Given the description of an element on the screen output the (x, y) to click on. 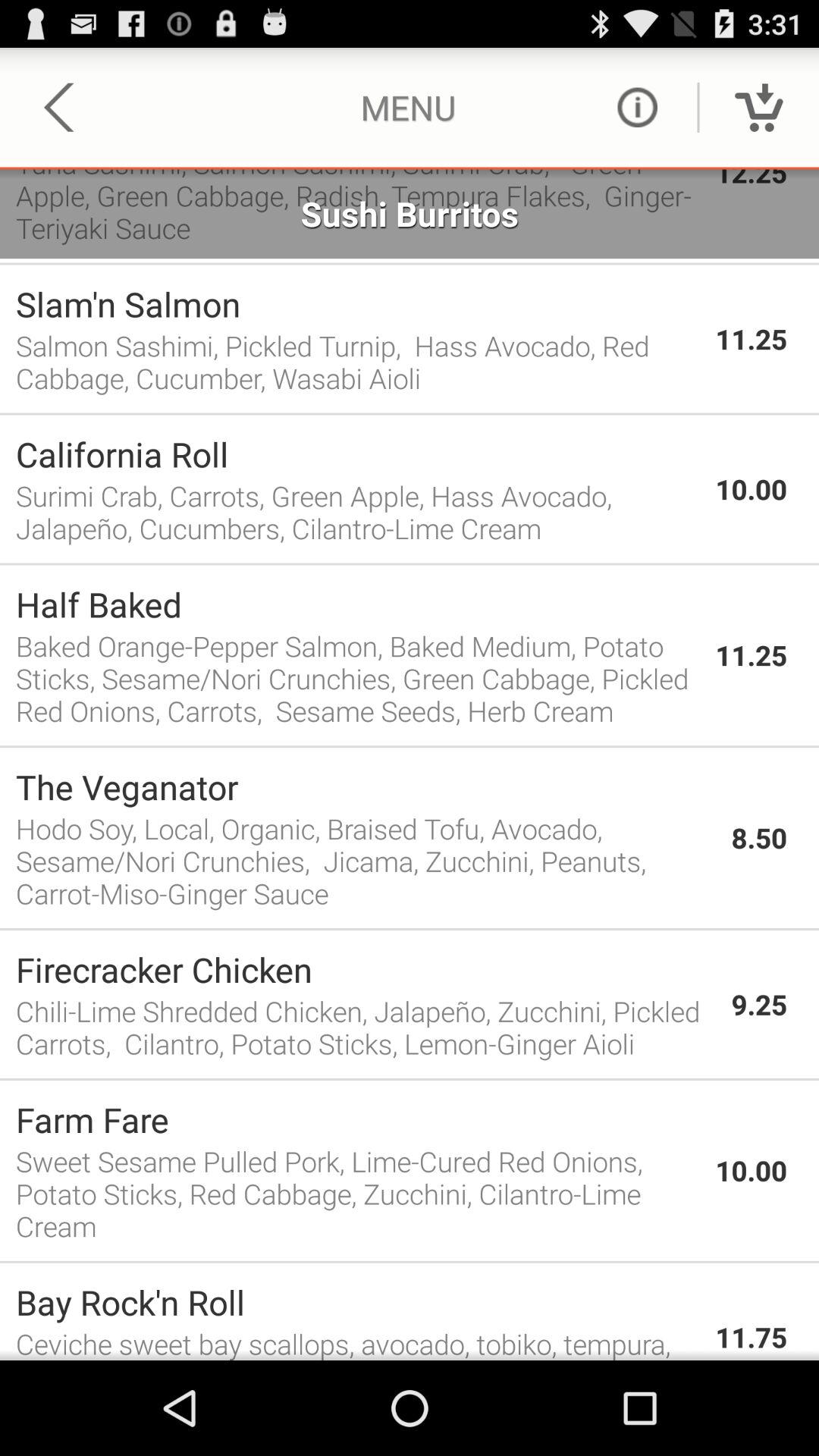
click item next to the 9.25 app (365, 1027)
